Given the description of an element on the screen output the (x, y) to click on. 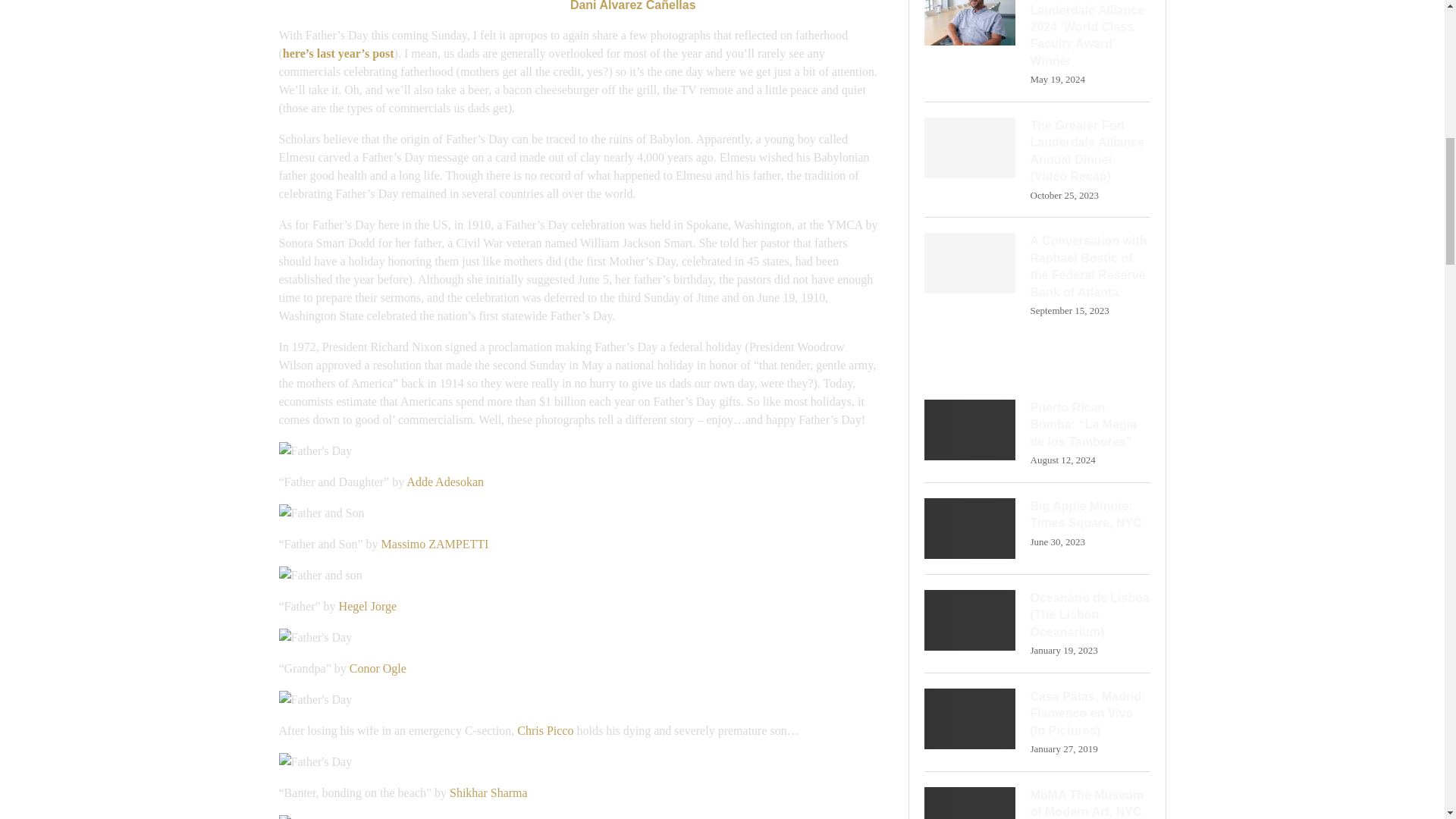
Hegel Jorge (368, 605)
Adde Adesokan (444, 481)
Massimo ZAMPETTI (435, 543)
Conor Ogle (377, 667)
